Given the description of an element on the screen output the (x, y) to click on. 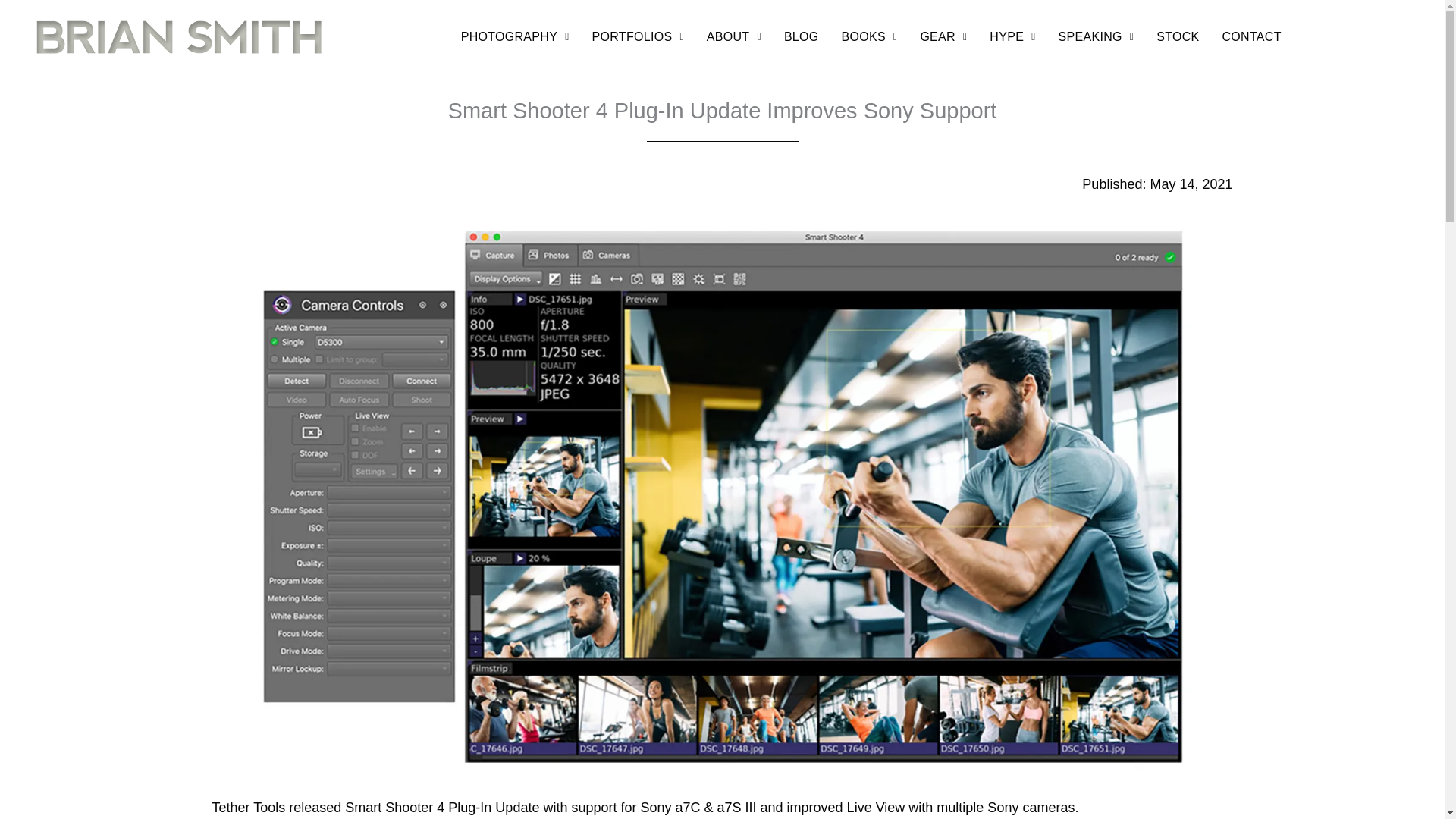
PHOTOGRAPHY (514, 36)
GEAR (943, 36)
PORTFOLIOS (638, 36)
ABOUT (733, 36)
BOOKS (869, 36)
BLOG (801, 36)
